Given the description of an element on the screen output the (x, y) to click on. 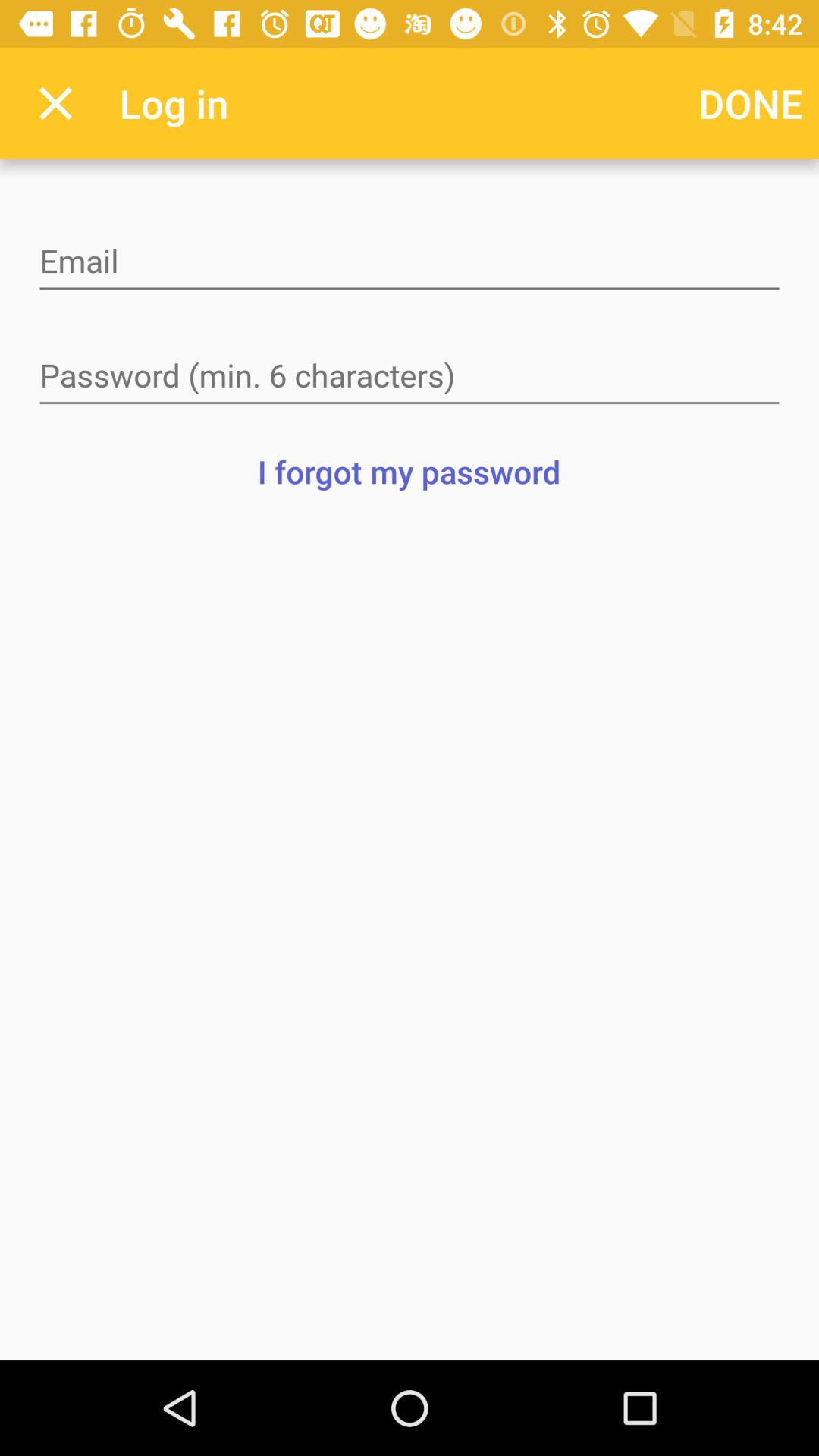
email (409, 262)
